Given the description of an element on the screen output the (x, y) to click on. 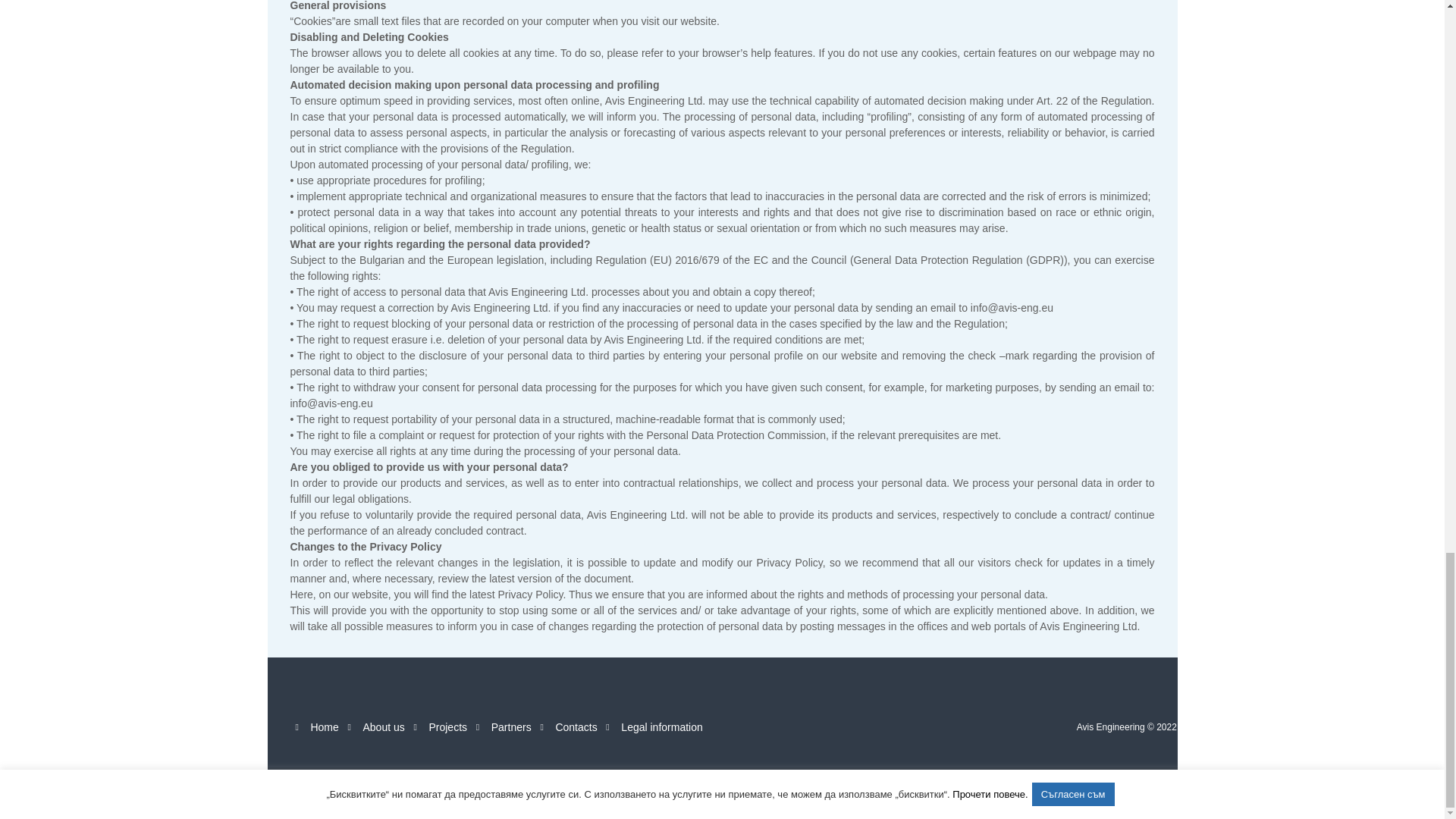
Projects (447, 727)
Legal information (661, 727)
Partners (511, 727)
About us (383, 727)
Contacts (575, 727)
Sitepoint.bg (749, 780)
Home (323, 727)
